Given the description of an element on the screen output the (x, y) to click on. 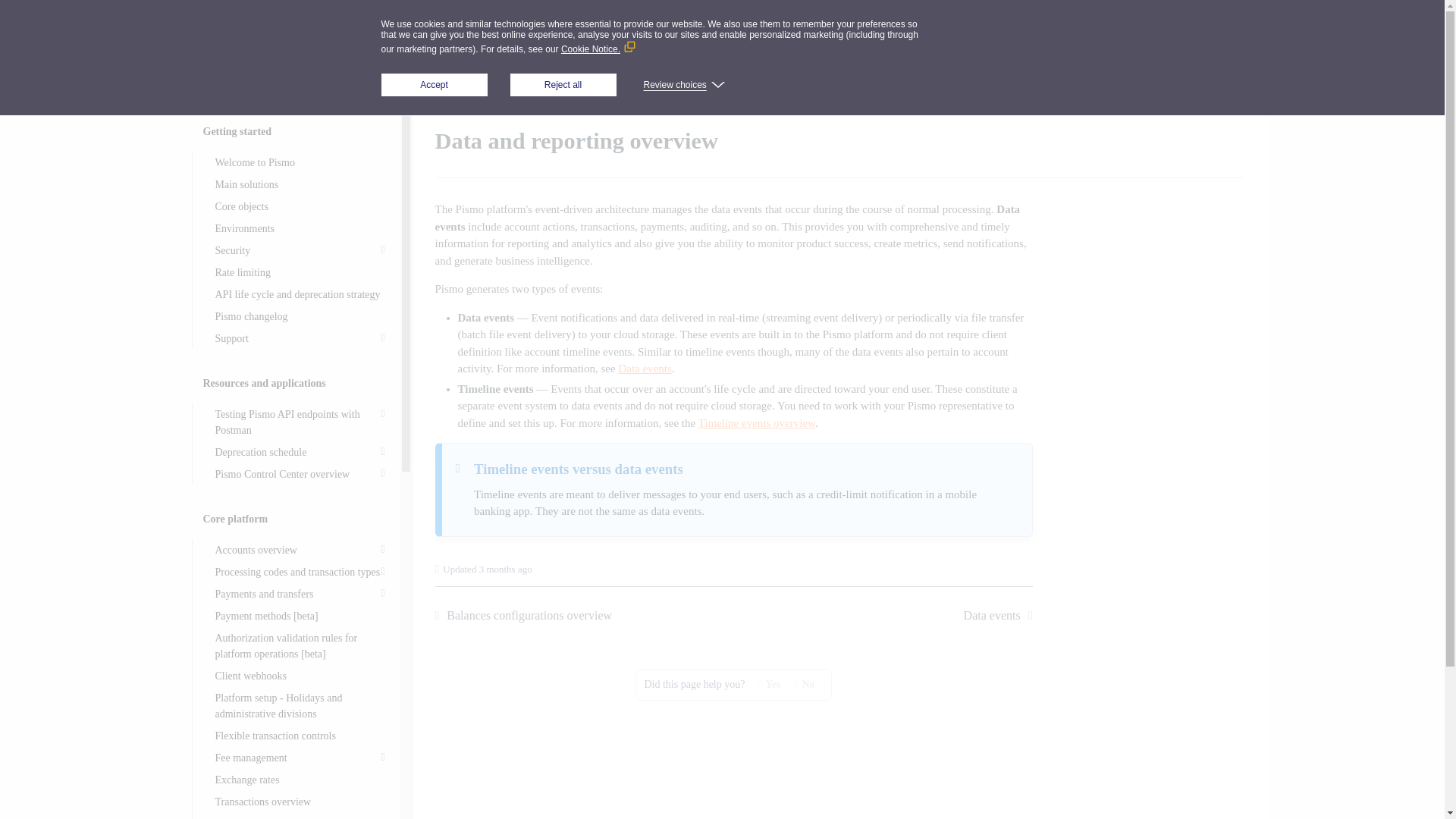
Core objects (300, 206)
Security (300, 250)
Events (355, 89)
Environments (300, 228)
APIs (307, 89)
Home (199, 89)
Welcome to Pismo (1138, 89)
About Pismo (300, 162)
Contact Us (1319, 36)
Main solutions (1395, 36)
Changelog (300, 184)
Pismo changelog (413, 89)
Rate limiting (300, 316)
API life cycle and deprecation strategy (300, 272)
